Given the description of an element on the screen output the (x, y) to click on. 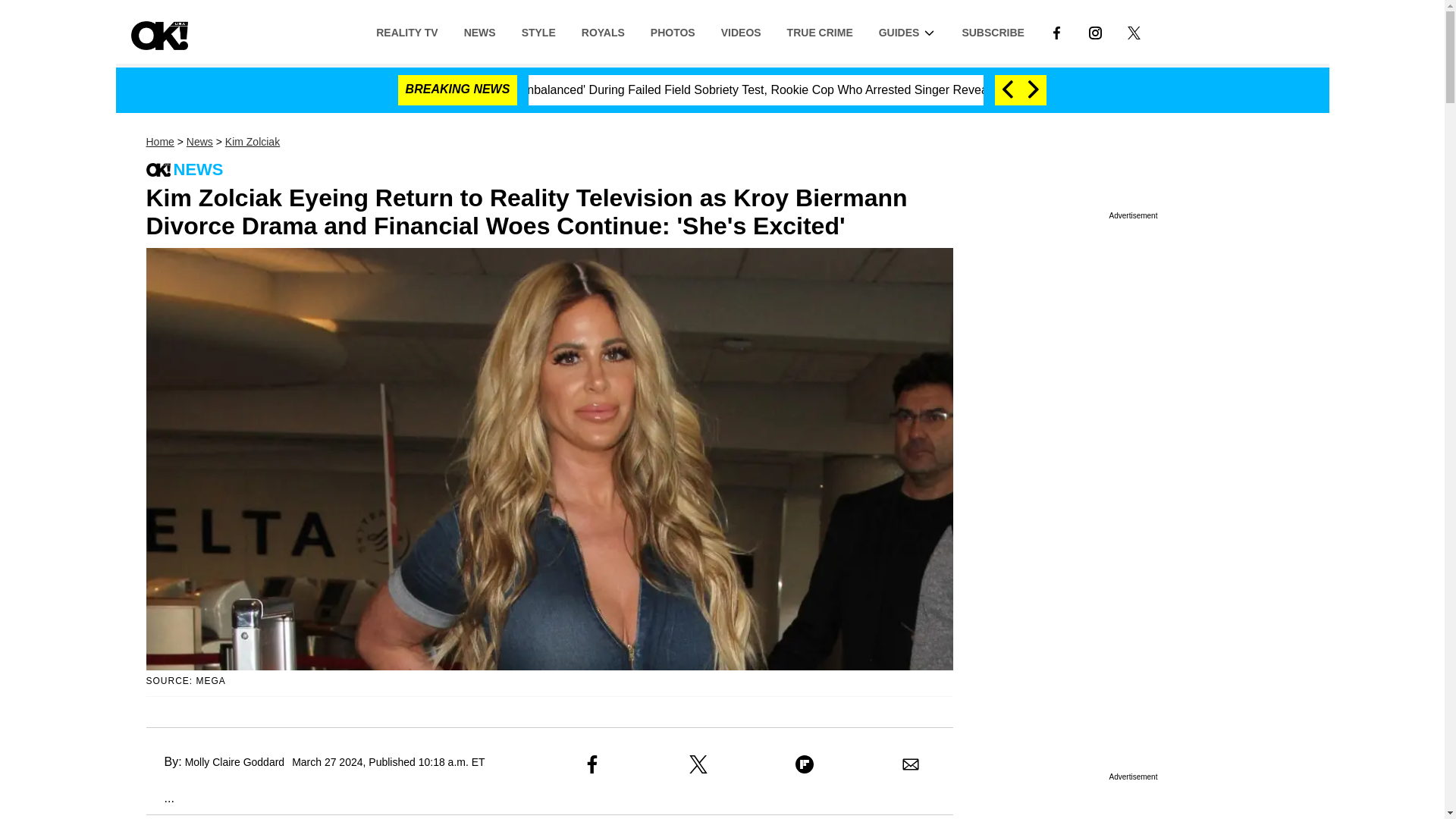
Link to X (1134, 31)
LINK TO X (1133, 32)
Share to Facebook (590, 764)
LINK TO X (1134, 31)
TRUE CRIME (820, 31)
... (159, 797)
LINK TO INSTAGRAM (1095, 32)
ROYALS (603, 31)
NEWS (479, 31)
